Given the description of an element on the screen output the (x, y) to click on. 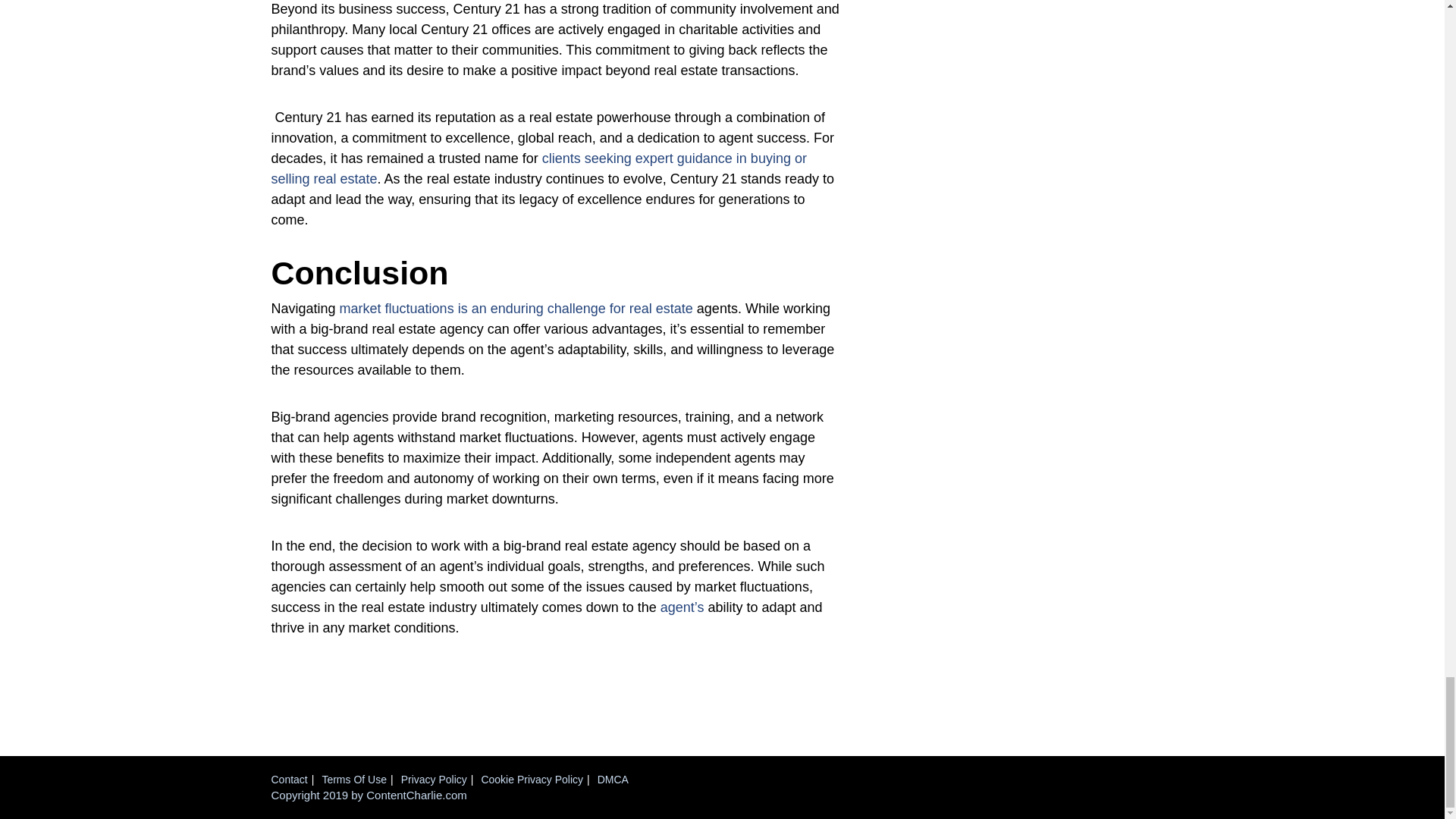
market fluctuations is an enduring challenge for real estate (516, 308)
